Given the description of an element on the screen output the (x, y) to click on. 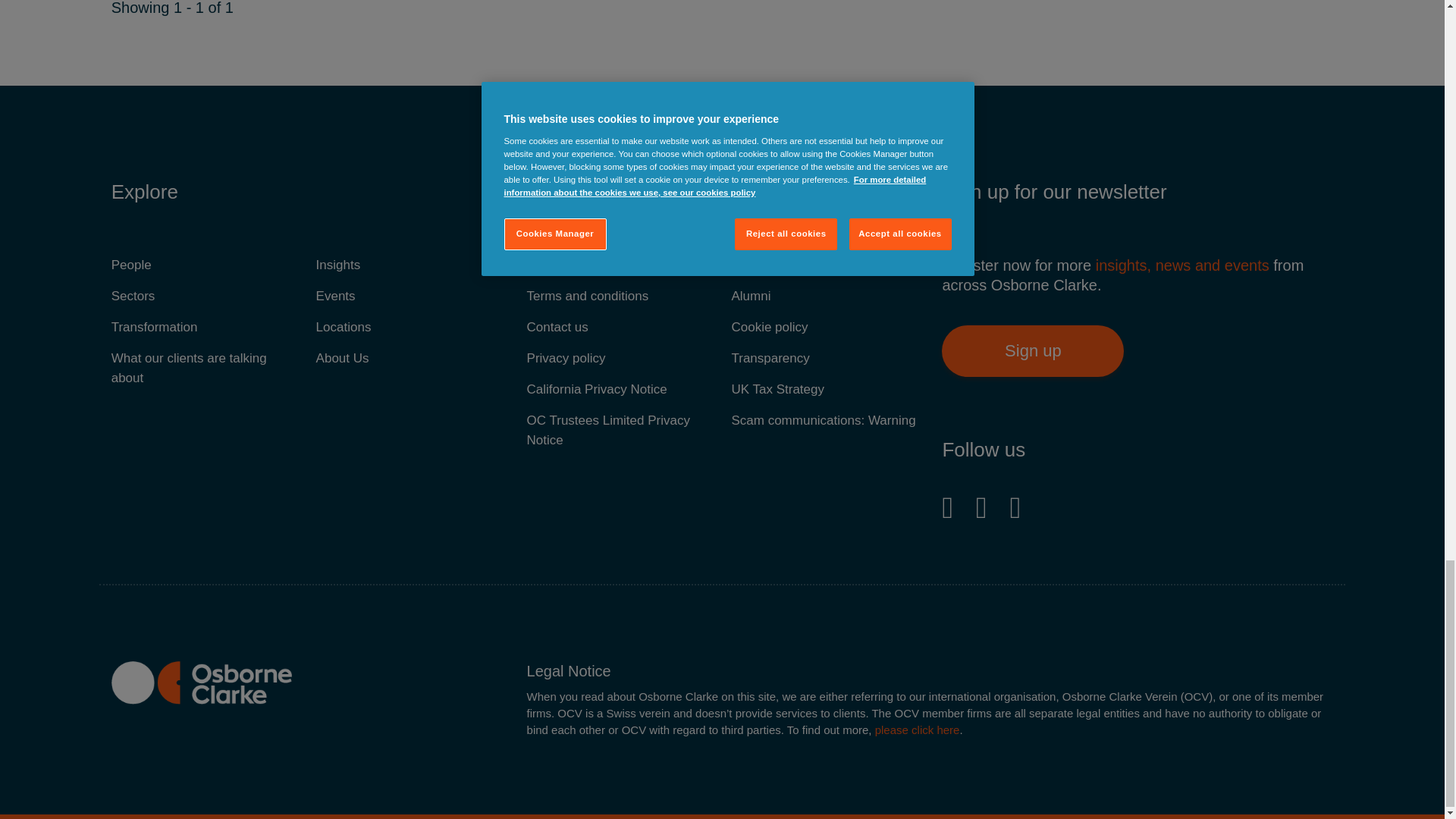
Osborne Clarke (202, 682)
